Given the description of an element on the screen output the (x, y) to click on. 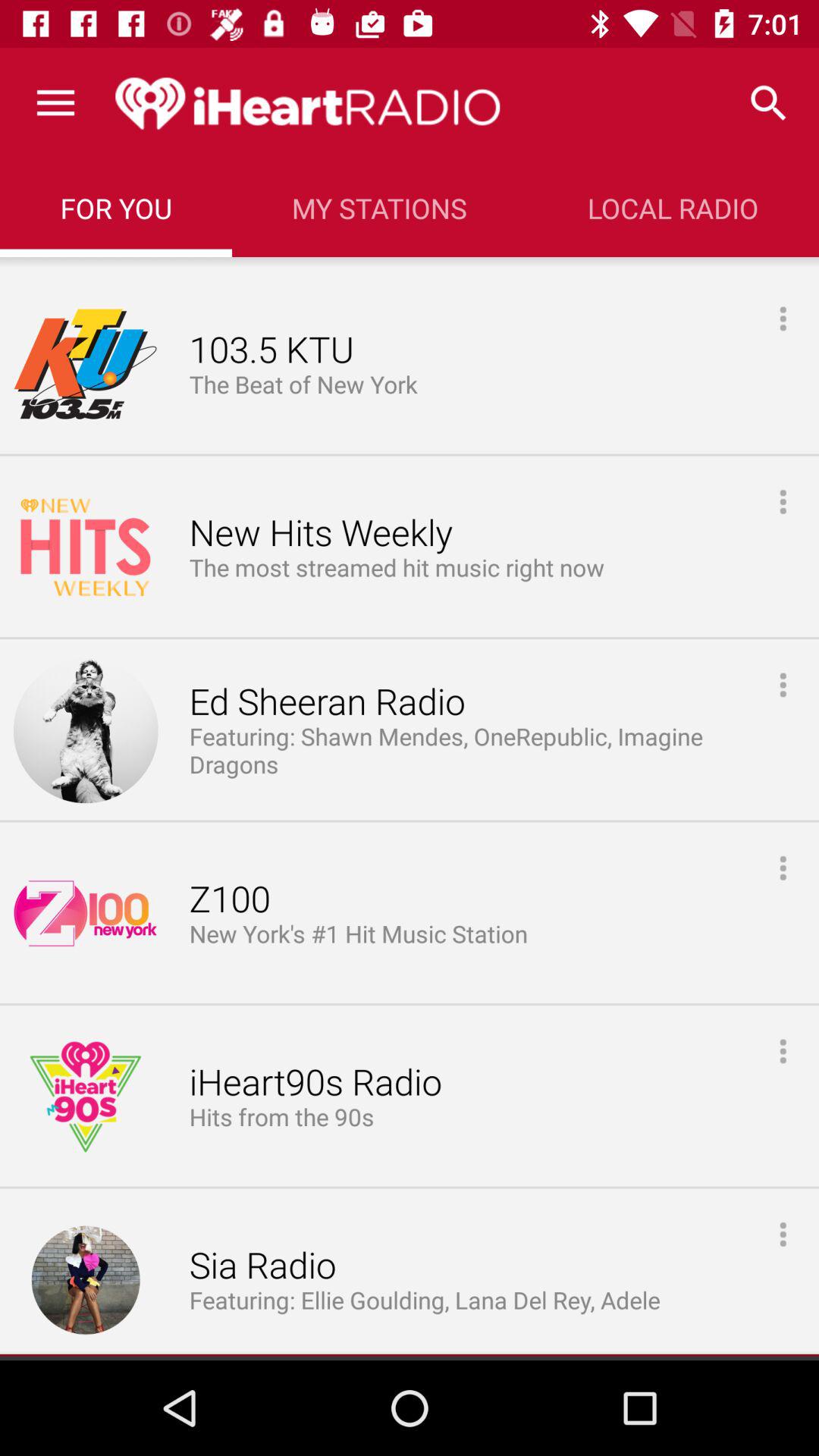
turn off icon to the left of the my stations (116, 208)
